Given the description of an element on the screen output the (x, y) to click on. 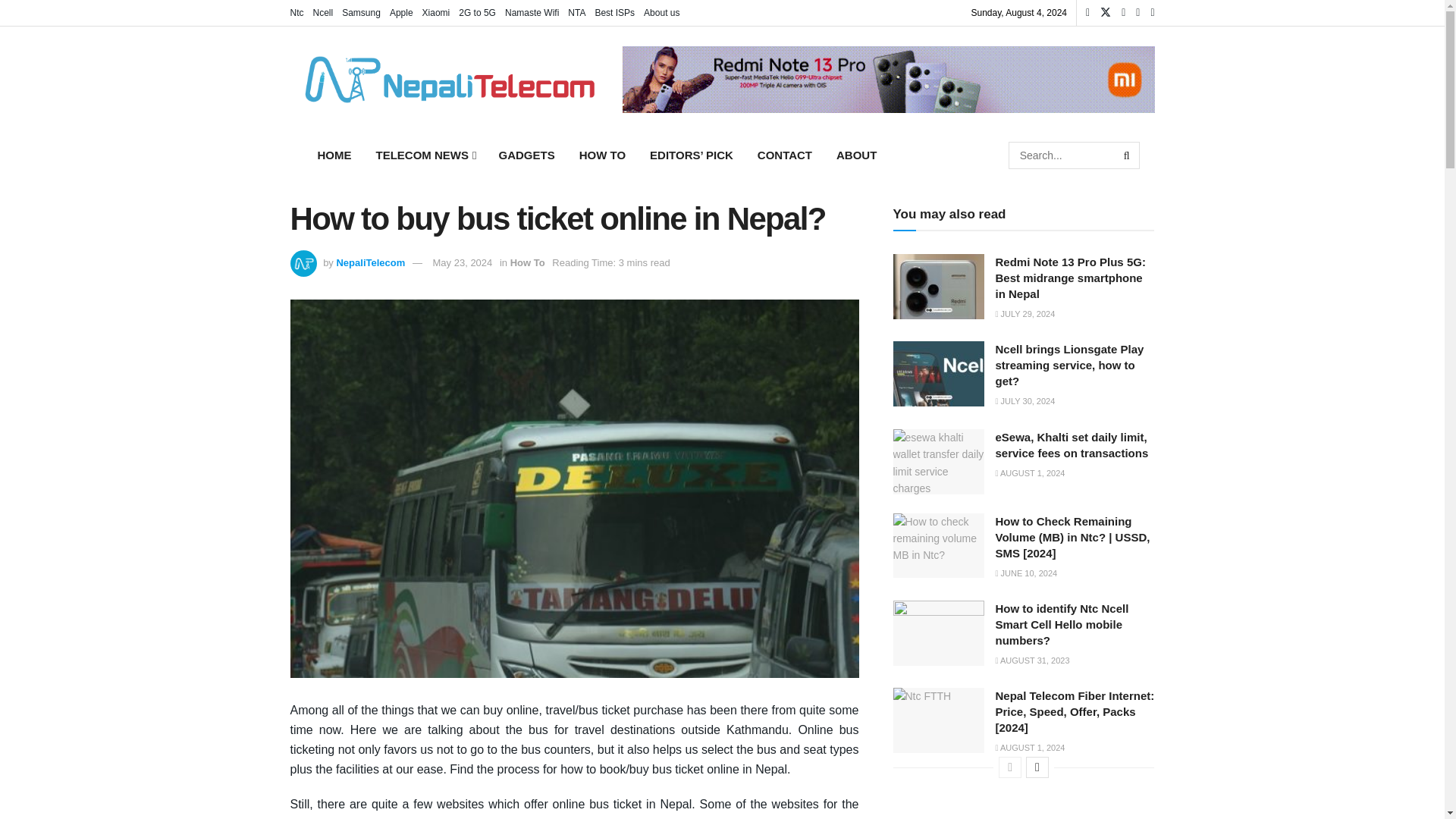
ABOUT (856, 155)
Next (1037, 767)
Samsung (361, 12)
GADGETS (526, 155)
HOW TO (602, 155)
CONTACT (784, 155)
Best ISPs (614, 12)
Apple (401, 12)
HOME (333, 155)
About us (661, 12)
Namaste Wifi (532, 12)
2G to 5G (477, 12)
Xiaomi (435, 12)
Previous (1010, 767)
TELECOM NEWS (425, 155)
